Given the description of an element on the screen output the (x, y) to click on. 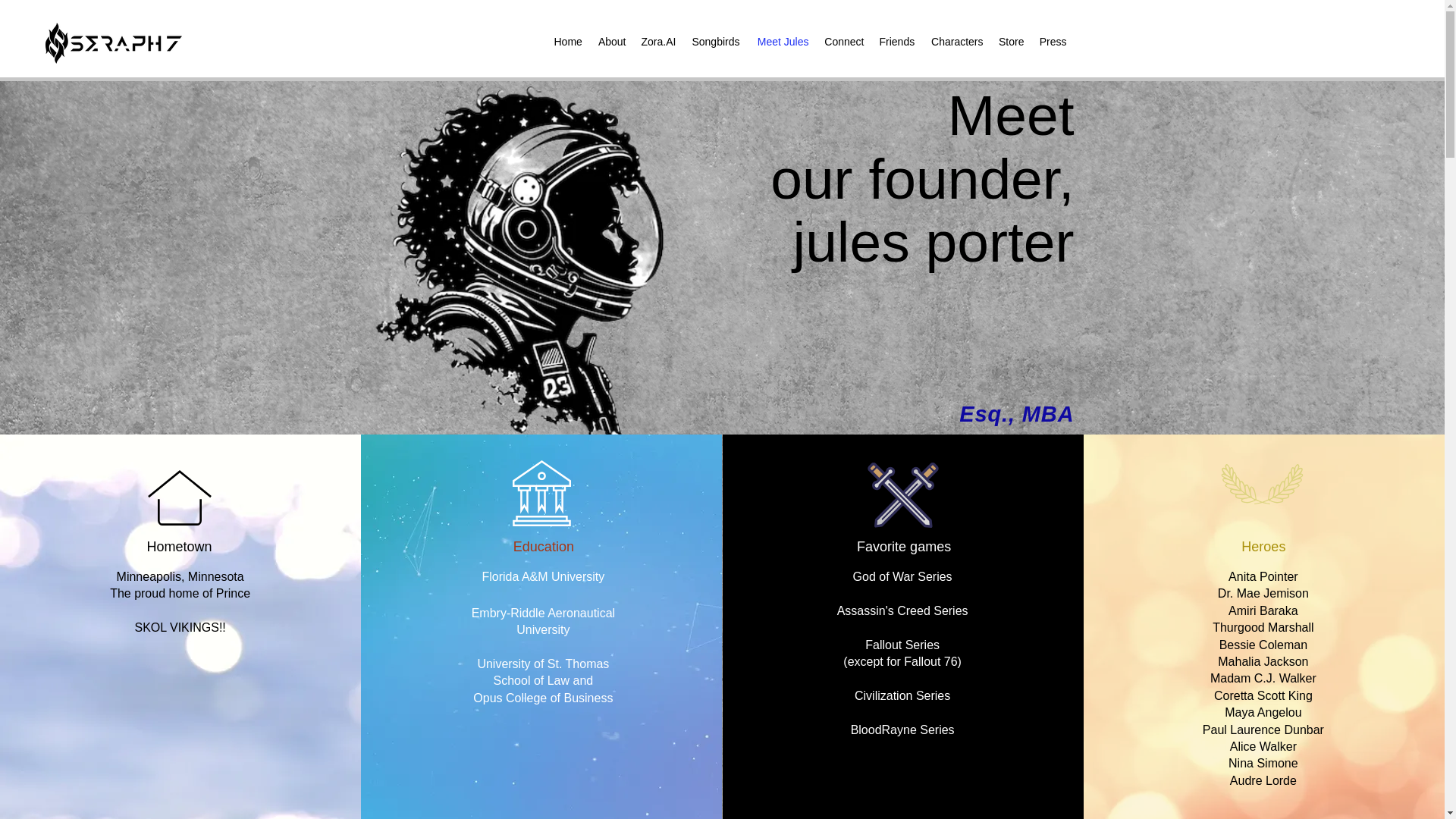
Meet Jules (782, 41)
Zora.AI (657, 41)
Songbirds (714, 41)
Characters (956, 41)
Friends (896, 41)
Connect (842, 41)
